Given the description of an element on the screen output the (x, y) to click on. 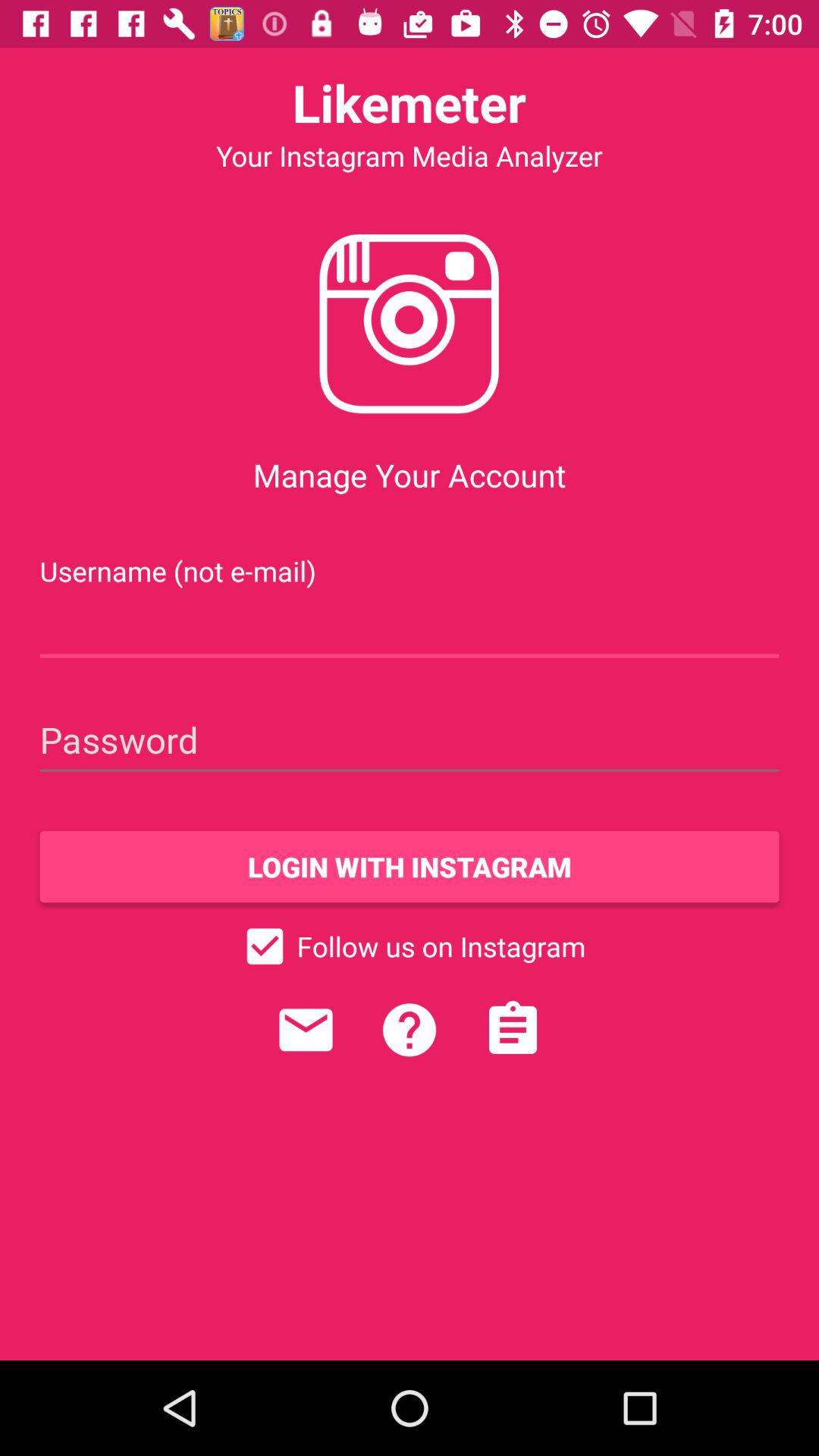
go to questions (409, 1029)
